Given the description of an element on the screen output the (x, y) to click on. 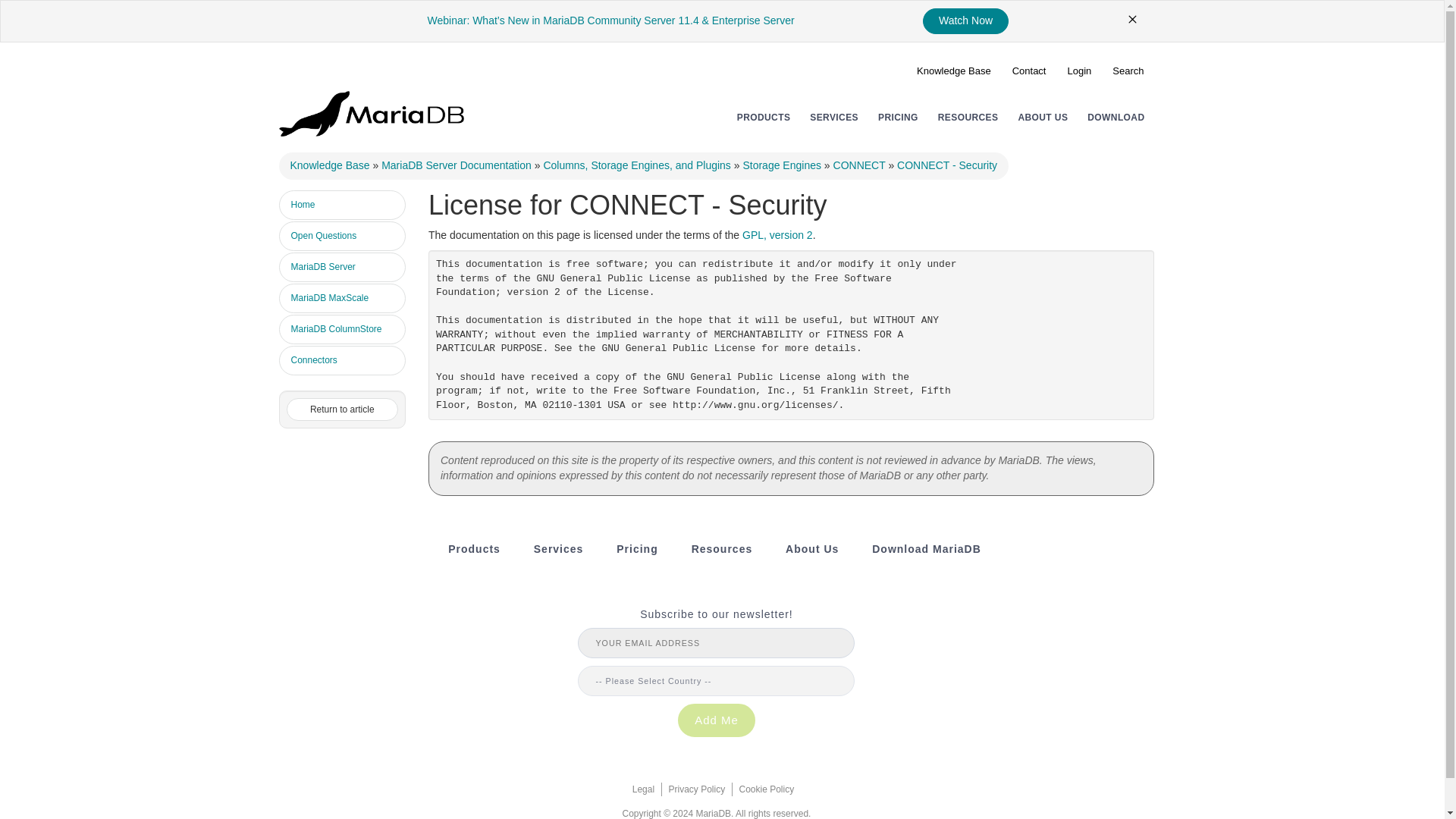
PRODUCTS (763, 117)
DOWNLOAD (1115, 117)
RESOURCES (967, 117)
Products (474, 548)
Services (834, 117)
Return to article (342, 409)
Home (342, 205)
CONNECT (858, 164)
ABOUT US (1042, 117)
Resources (967, 117)
SERVICES (834, 117)
PRICING (897, 117)
Pricing (636, 548)
MariaDB Server Documentation (456, 164)
About MariaDB (812, 548)
